Given the description of an element on the screen output the (x, y) to click on. 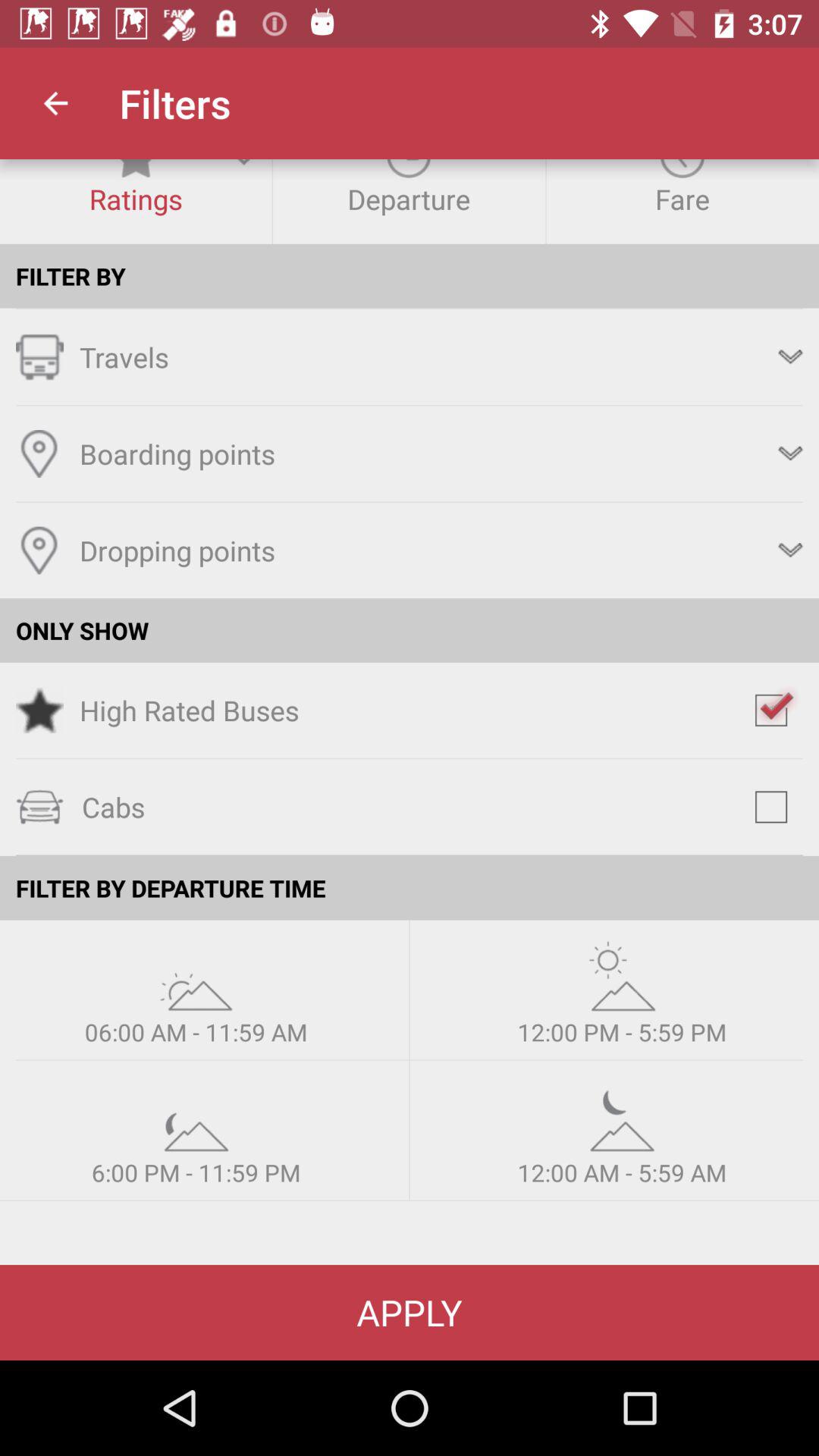
filter by evening time (196, 1116)
